Given the description of an element on the screen output the (x, y) to click on. 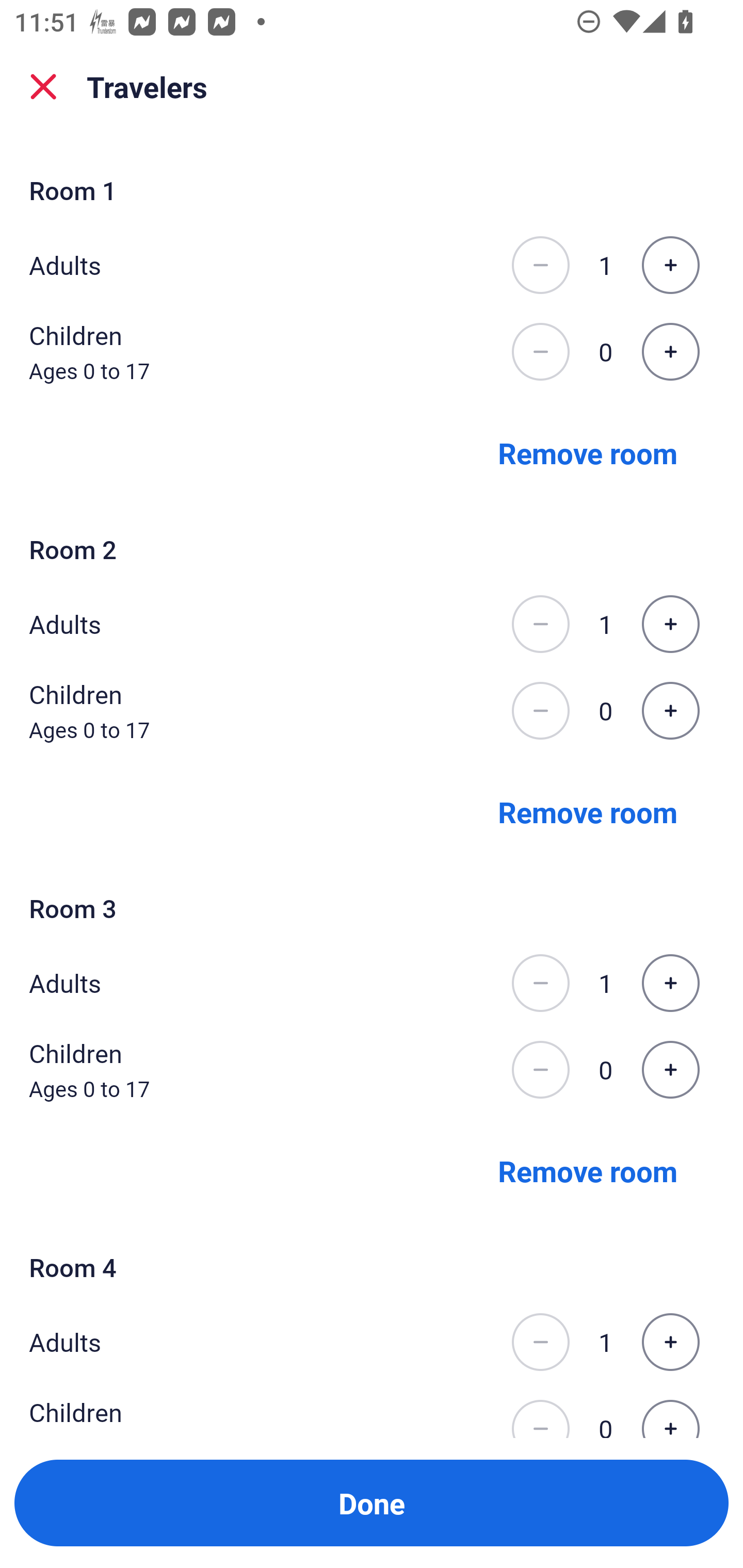
close (43, 86)
Decrease the number of adults (540, 264)
Increase the number of adults (670, 264)
Decrease the number of children (540, 351)
Increase the number of children (670, 351)
Remove room (588, 452)
Decrease the number of adults (540, 623)
Increase the number of adults (670, 623)
Decrease the number of children (540, 710)
Increase the number of children (670, 710)
Remove room (588, 811)
Decrease the number of adults (540, 983)
Increase the number of adults (670, 983)
Decrease the number of children (540, 1070)
Increase the number of children (670, 1070)
Remove room (588, 1170)
Decrease the number of adults (540, 1342)
Increase the number of adults (670, 1342)
Decrease the number of children (540, 1411)
Increase the number of children (670, 1411)
Done (371, 1502)
